Given the description of an element on the screen output the (x, y) to click on. 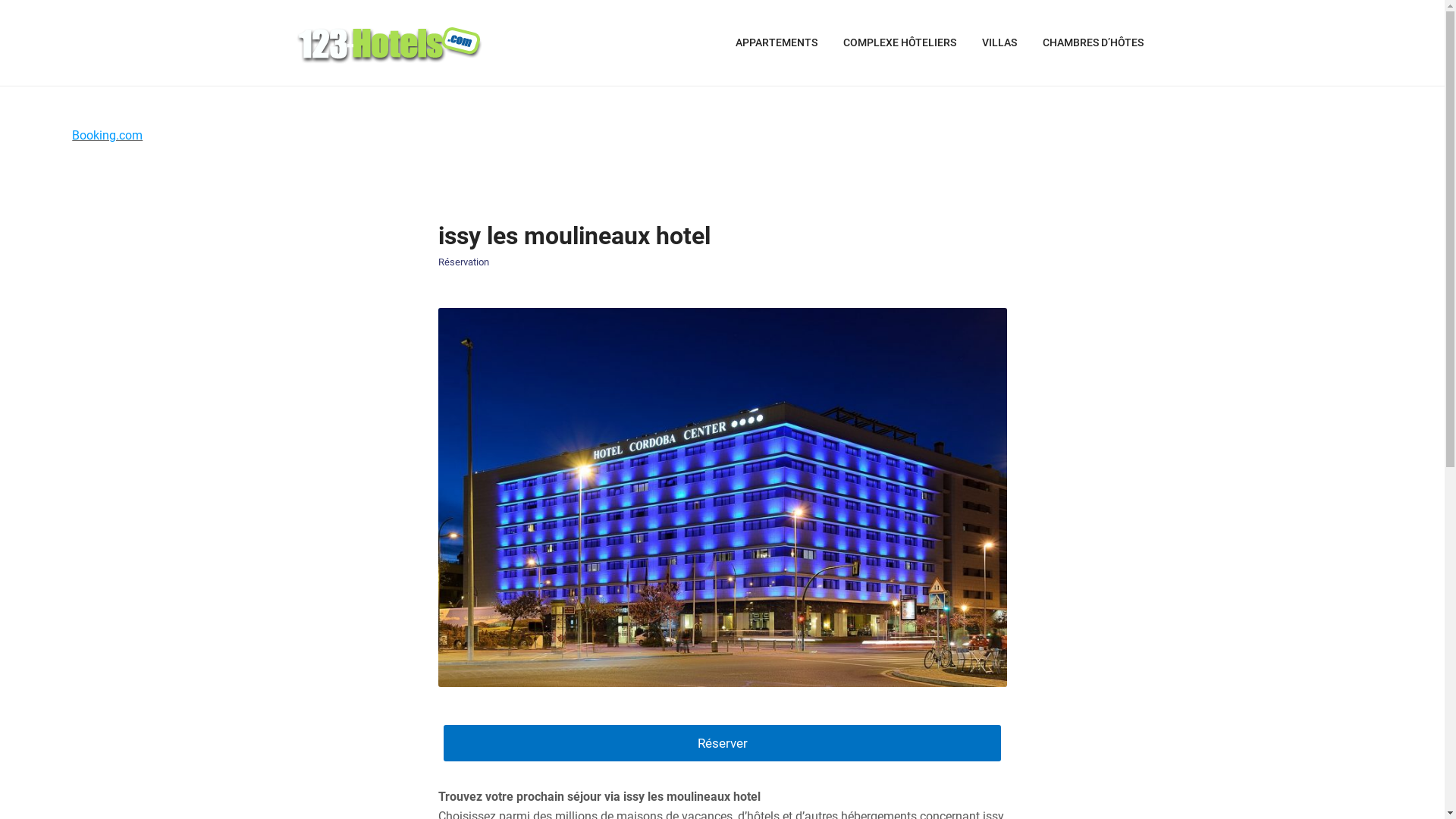
APPARTEMENTS Element type: text (776, 42)
Booking.com Element type: text (107, 135)
VILLAS Element type: text (998, 42)
